Given the description of an element on the screen output the (x, y) to click on. 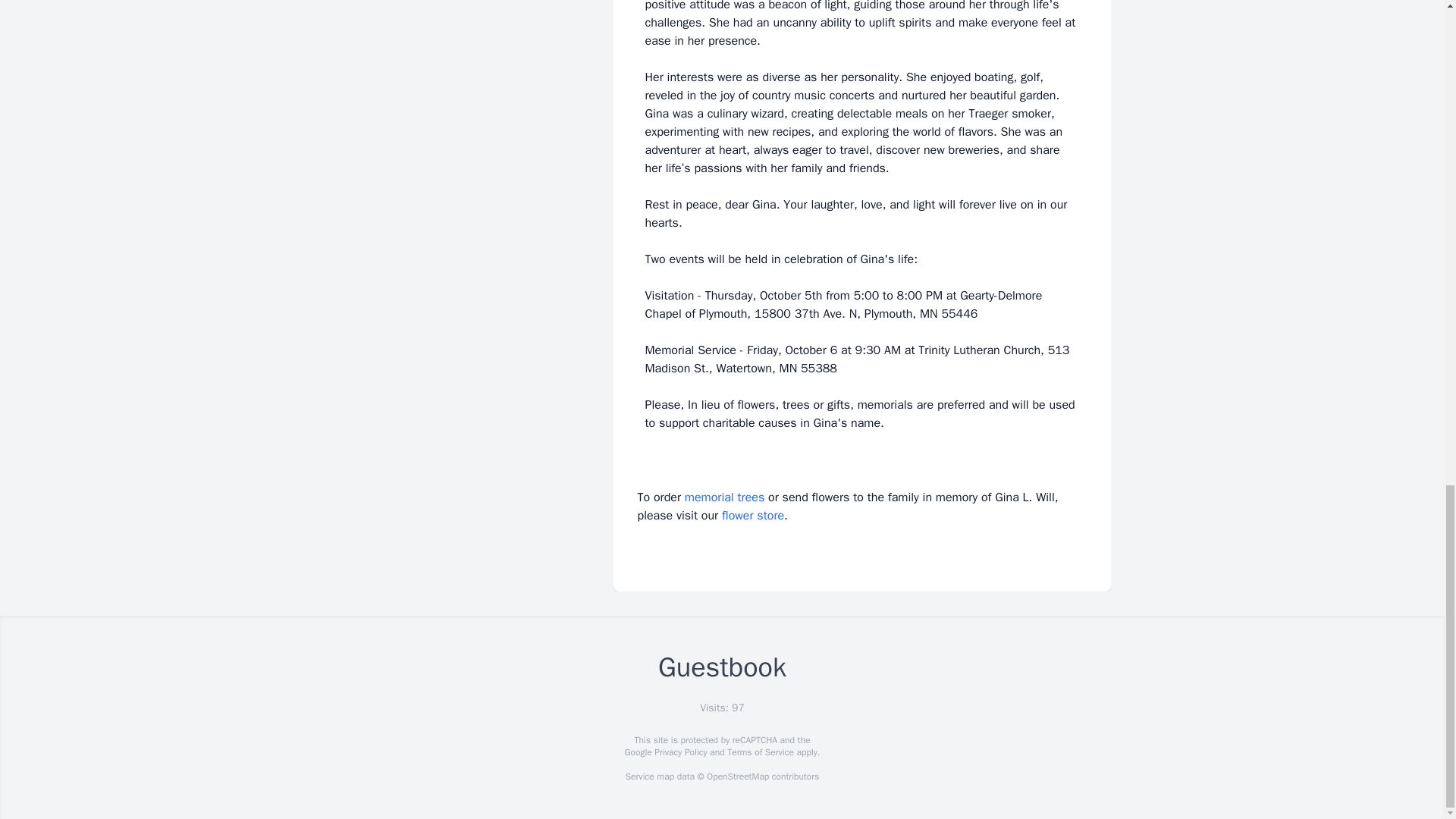
OpenStreetMap (737, 776)
memorial trees (724, 497)
Terms of Service (759, 752)
flower store (753, 515)
Privacy Policy (679, 752)
